Given the description of an element on the screen output the (x, y) to click on. 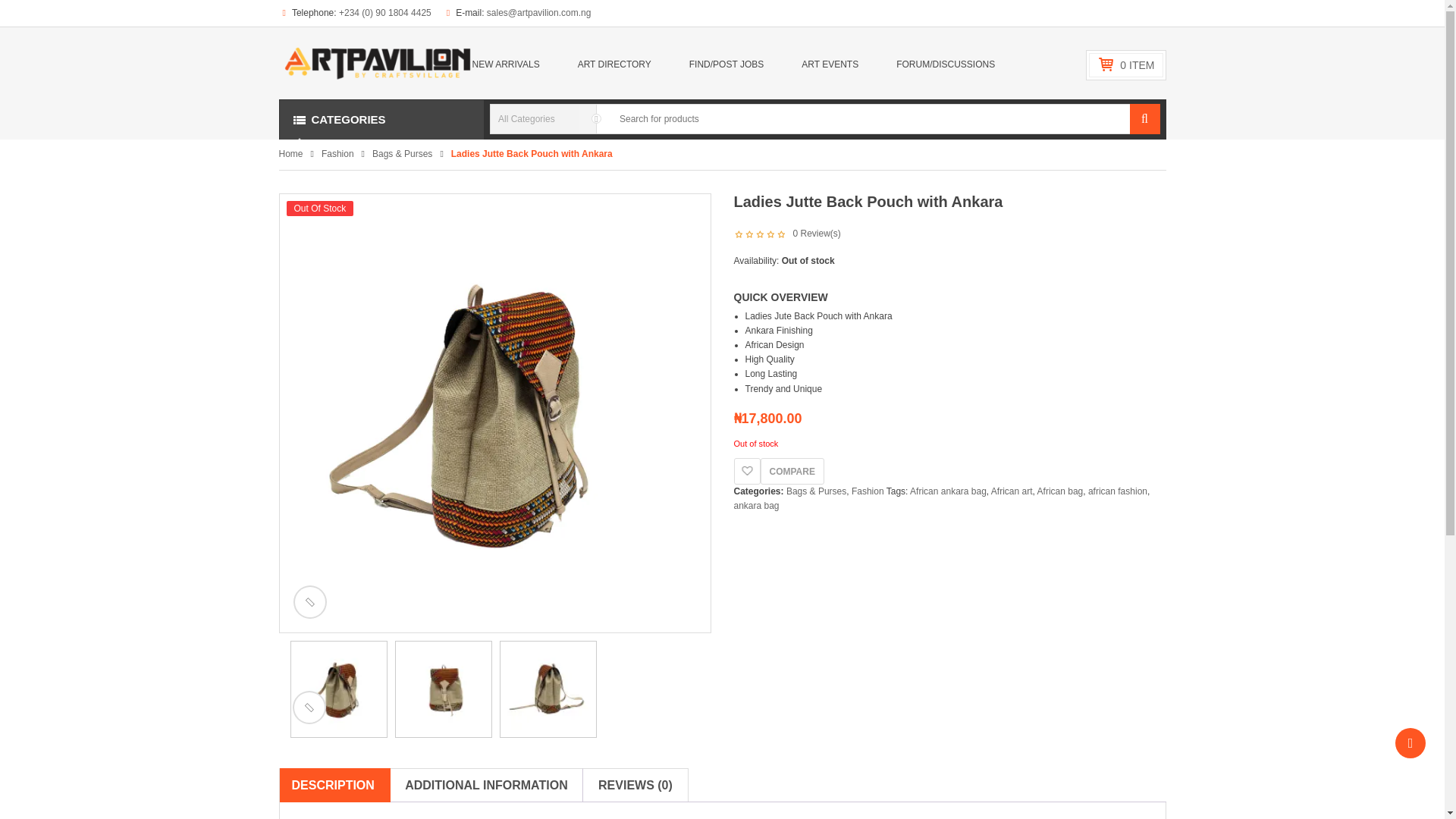
Search (1144, 119)
ART EVENTS (825, 64)
View your shopping cart (1136, 64)
0 ITEM (1136, 64)
ART DIRECTORY (610, 64)
NEW ARRIVALS (512, 64)
